Given the description of an element on the screen output the (x, y) to click on. 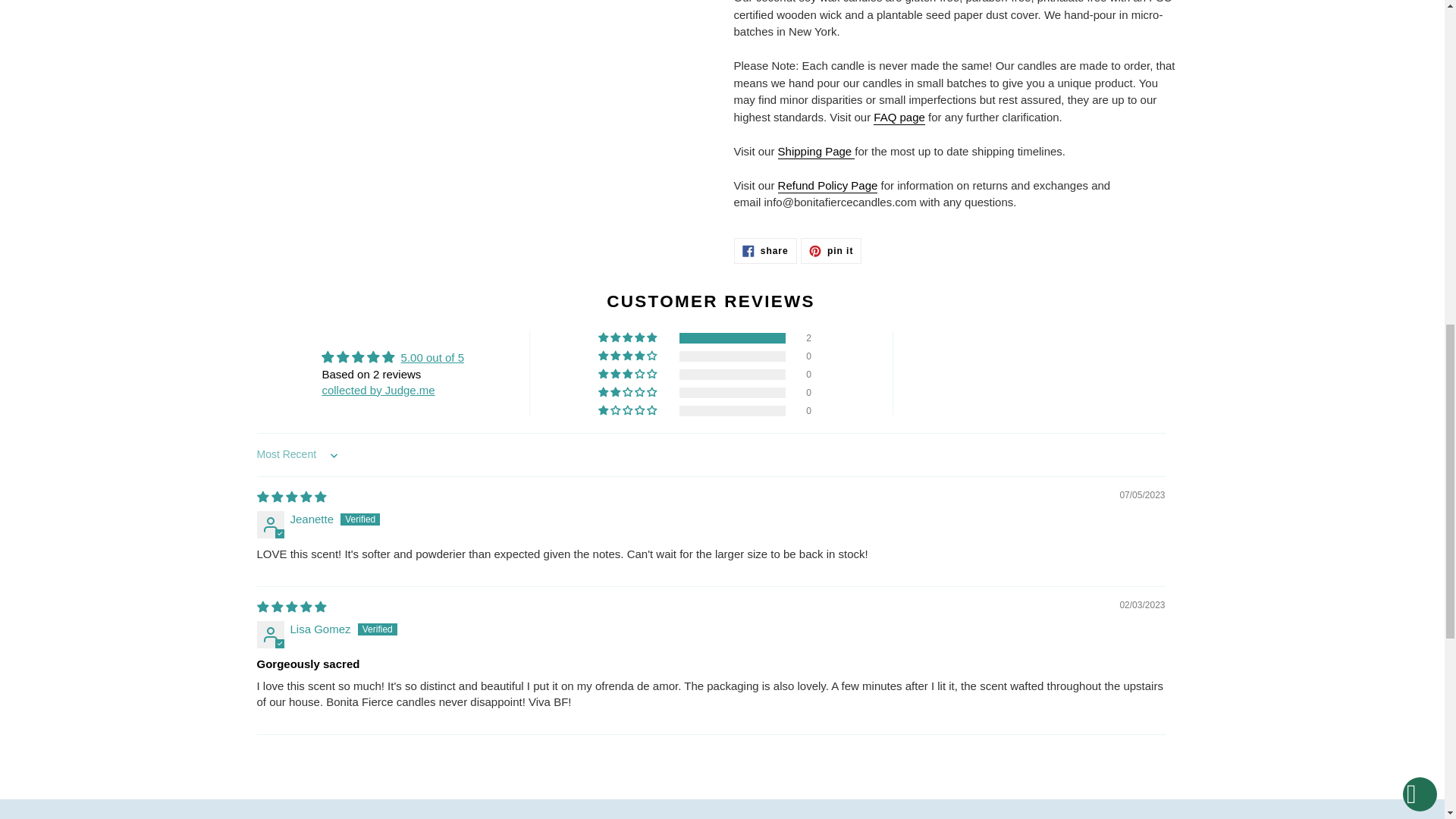
Shipping Policy (816, 151)
Refund Policy (827, 186)
FAQs (898, 117)
